Given the description of an element on the screen output the (x, y) to click on. 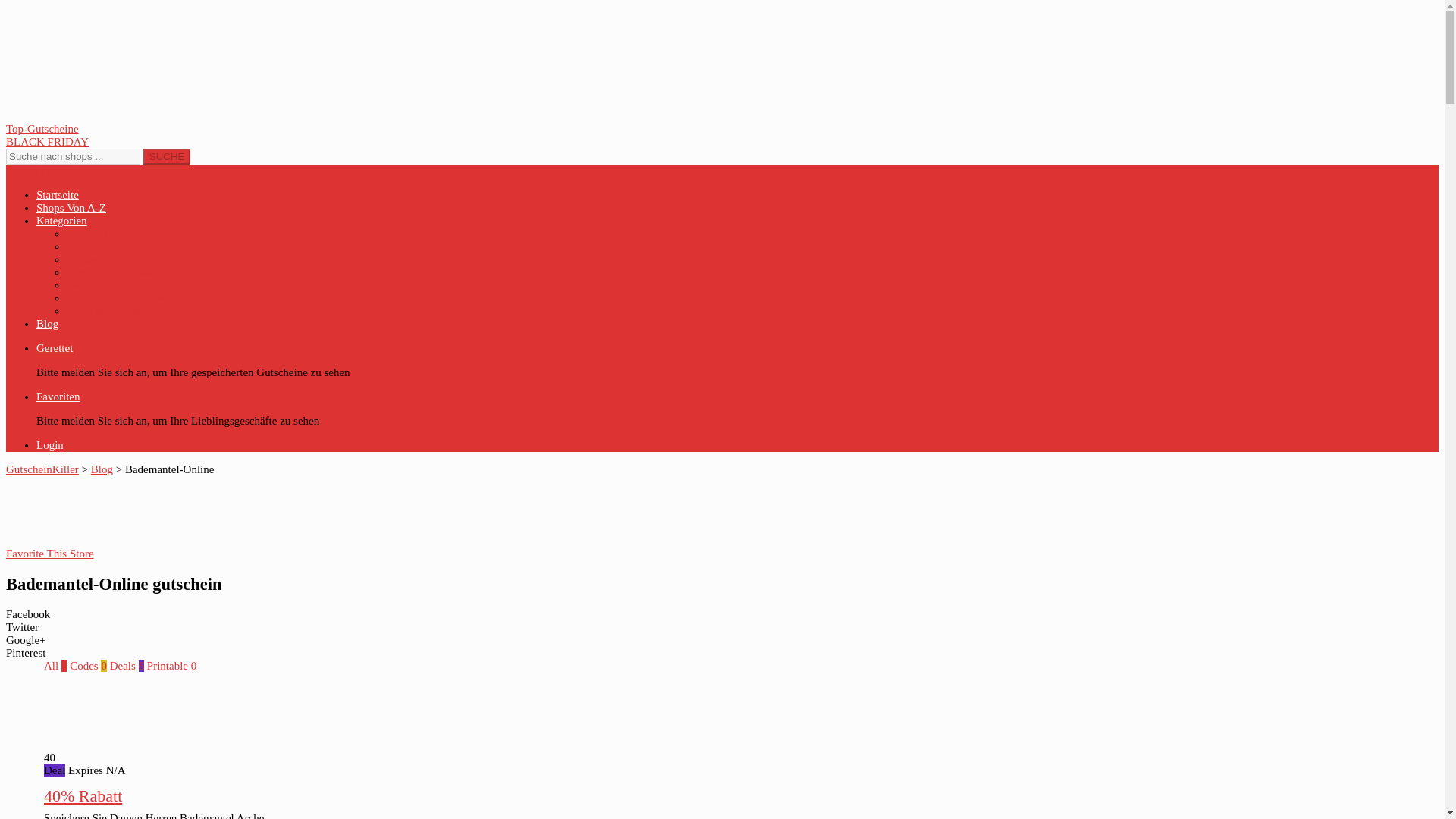
BLACK FRIDAY (449, 141)
Codes 0 (87, 665)
Startseite (57, 194)
Automotive (93, 246)
Share link on Facebook (449, 614)
Shops Von A-Z (71, 207)
Kategorien (61, 220)
All 6 (54, 665)
GutscheinKiller (41, 469)
Blog (101, 469)
